Given the description of an element on the screen output the (x, y) to click on. 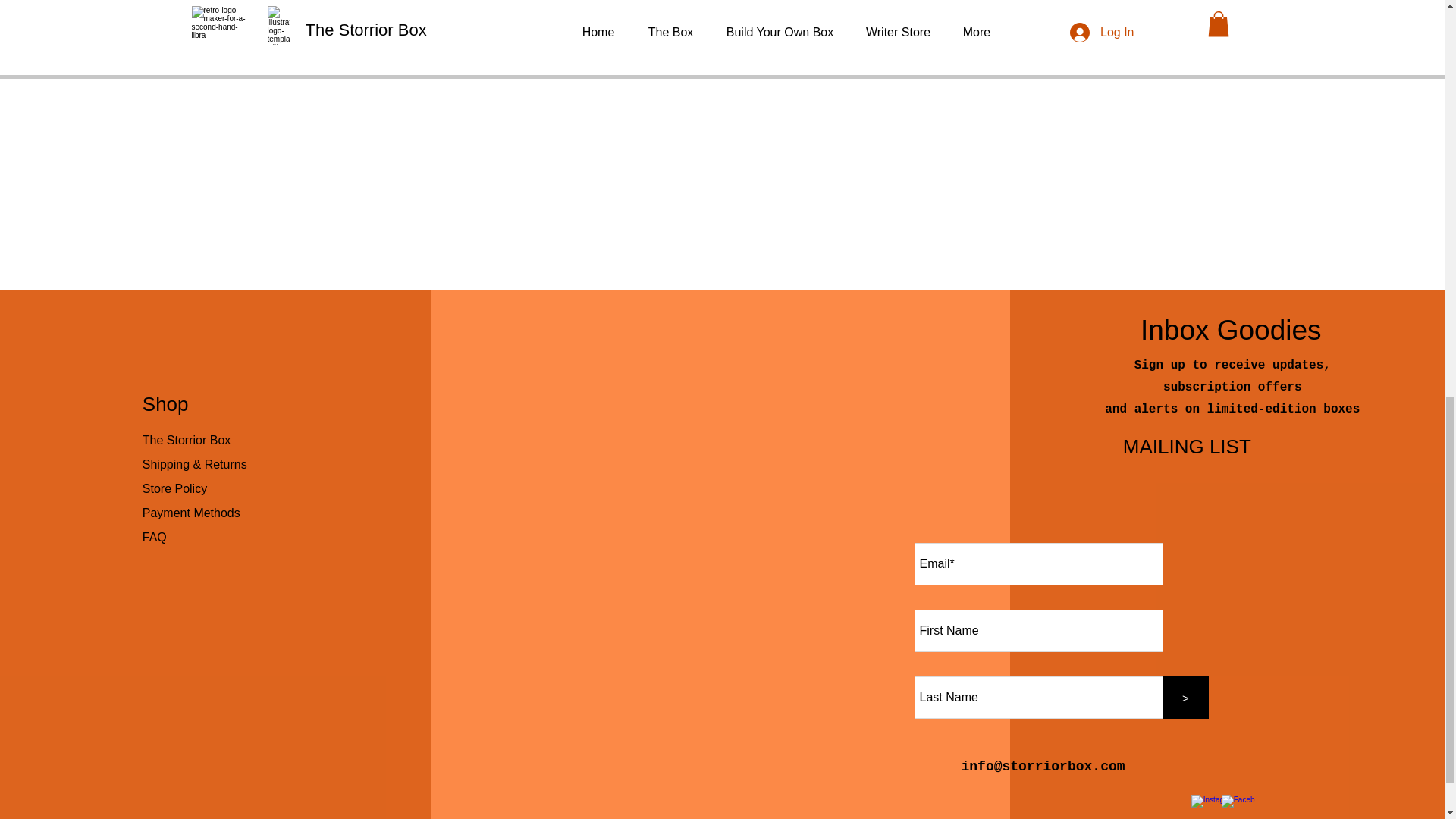
FAQ (154, 536)
Payment Methods  (192, 512)
The Storrior Box (186, 440)
Store Policy (174, 488)
